Given the description of an element on the screen output the (x, y) to click on. 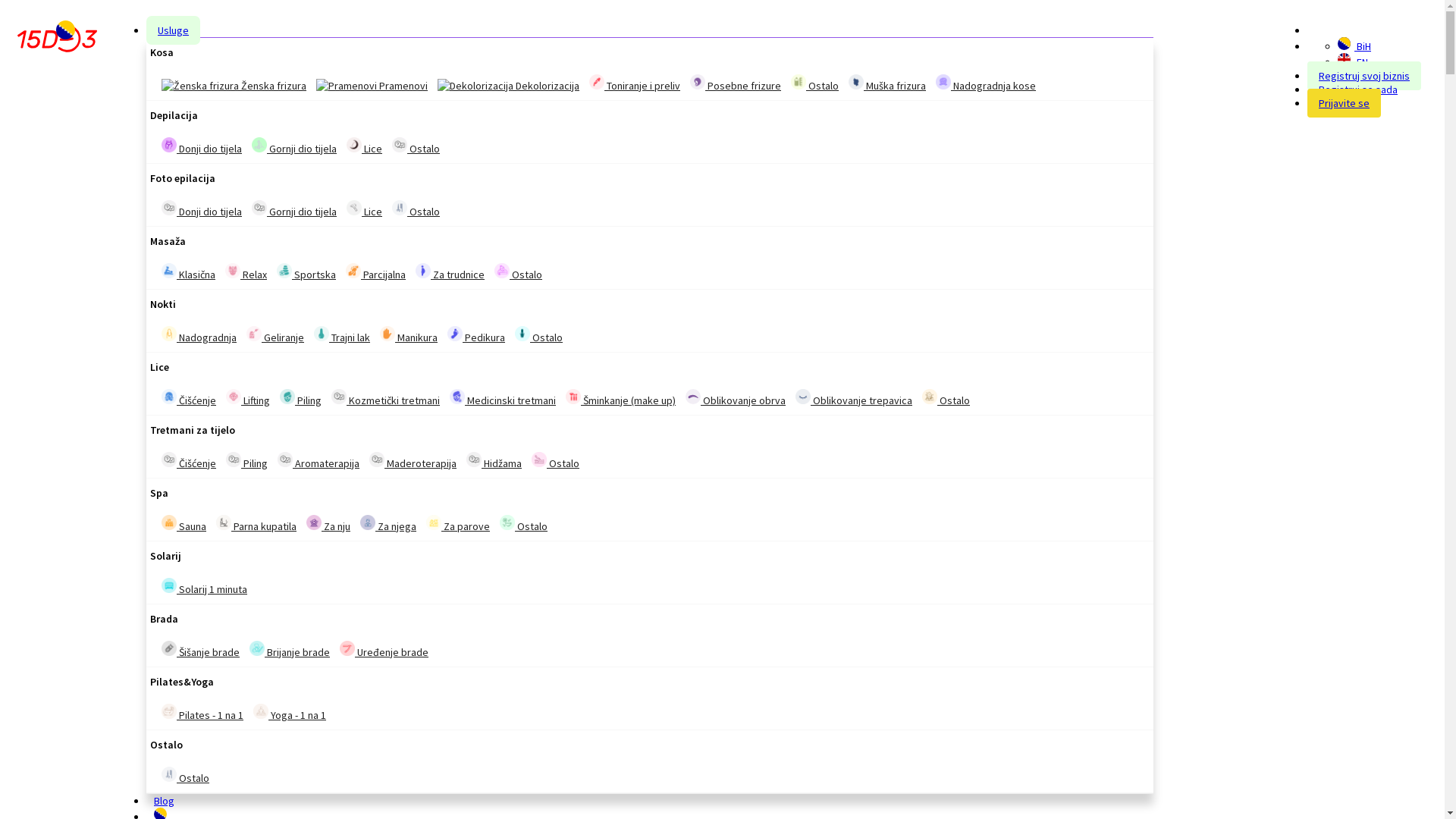
Gornji dio tijela Element type: hover (258, 144)
Za parove Element type: text (457, 523)
Za nju Element type: hover (313, 522)
Nadogradnja kose Element type: text (985, 83)
Ostalo Element type: text (945, 397)
Lice Element type: text (363, 146)
Trajni lak Element type: text (341, 334)
Prijavite se Element type: text (1343, 102)
Za nju Element type: text (328, 523)
Pramenovi Element type: hover (346, 85)
Yoga - 1 na 1 Element type: text (289, 712)
Usluge Element type: text (173, 29)
Gornji dio tijela Element type: text (293, 208)
Gornji dio tijela Element type: hover (258, 207)
EN Element type: hover (1343, 59)
Manikura Element type: hover (387, 333)
Registruj se sada Element type: text (1357, 89)
Lifting Element type: hover (233, 396)
Sauna Element type: text (183, 523)
Ostalo Element type: text (415, 208)
Nadogradnja Element type: text (198, 334)
Za parove Element type: hover (433, 522)
Ostalo Element type: text (518, 271)
Brijanje brade Element type: text (289, 649)
Ostalo Element type: hover (168, 773)
Oblikovanje trepavica Element type: hover (802, 396)
Pilates - 1 na 1 Element type: text (202, 712)
BiH Element type: hover (1343, 43)
Donji dio tijela Element type: text (201, 208)
Za trudnice Element type: text (449, 271)
Gornji dio tijela Element type: text (293, 146)
Parna kupatila Element type: hover (223, 522)
Oblikovanje obrva Element type: hover (692, 396)
Pedikura Element type: text (475, 334)
Ostalo Element type: text (538, 334)
EN Element type: text (1352, 62)
Pilates - 1 na 1 Element type: hover (168, 710)
Piling Element type: hover (233, 459)
Ostalo Element type: hover (399, 144)
Parna kupatila Element type: text (256, 523)
Ostalo Element type: hover (538, 459)
Ostalo Element type: hover (798, 81)
Sportska Element type: text (306, 271)
Medicinski tretmani Element type: hover (456, 396)
Solarij 1 minuta Element type: hover (168, 585)
Donji dio tijela Element type: hover (168, 207)
Donji dio tijela Element type: text (201, 146)
Donji dio tijela Element type: hover (168, 144)
Maderoterapija Element type: hover (376, 459)
Solarij 1 minuta Element type: text (204, 586)
Za njega Element type: hover (367, 522)
Oblikovanje trepavica Element type: text (853, 397)
Sauna Element type: hover (168, 522)
Ostalo Element type: hover (506, 522)
Relax Element type: hover (232, 270)
Ostalo Element type: hover (501, 270)
15do3 - Online rezervacija termina Element type: hover (57, 38)
Aromaterapija Element type: hover (284, 459)
Lifting Element type: text (247, 397)
Oblikovanje obrva Element type: text (735, 397)
Piling Element type: text (246, 460)
Ostalo Element type: text (415, 146)
Piling Element type: hover (286, 396)
Toniranje i preliv Element type: text (634, 83)
Nadogradnja kose Element type: hover (942, 81)
Posebne frizure Element type: hover (697, 81)
Lice Element type: hover (353, 207)
Ostalo Element type: text (814, 83)
Nadogradnja Element type: hover (168, 333)
Aromaterapija Element type: text (318, 460)
Piling Element type: text (300, 397)
Parcijalna Element type: text (375, 271)
Ostalo Element type: hover (522, 333)
Brijanje brade Element type: hover (256, 647)
Toniranje i preliv Element type: hover (596, 81)
Blog Element type: text (164, 800)
Ostalo Element type: text (555, 460)
Ostalo Element type: hover (929, 396)
Lice Element type: hover (353, 144)
Geliranje Element type: text (274, 334)
Relax Element type: text (245, 271)
Registruj svoj biznis Element type: text (1364, 75)
Za njega Element type: text (388, 523)
Yoga - 1 na 1 Element type: hover (260, 710)
Za trudnice Element type: hover (422, 270)
Parcijalna Element type: hover (352, 270)
Trajni lak Element type: hover (321, 333)
Dekolorizacija Element type: hover (475, 85)
Pramenovi Element type: text (371, 85)
Dekolorizacija Element type: text (508, 85)
Manikura Element type: text (408, 334)
BiH Element type: text (1354, 46)
Ostalo Element type: text (523, 523)
Ostalo Element type: hover (399, 207)
Pedikura Element type: hover (454, 333)
Sportska Element type: hover (283, 270)
Posebne frizure Element type: text (735, 83)
Maderoterapija Element type: text (412, 460)
Lice Element type: text (363, 208)
Medicinski tretmani Element type: text (502, 397)
Geliranje Element type: hover (253, 333)
Ostalo Element type: text (185, 775)
